Given the description of an element on the screen output the (x, y) to click on. 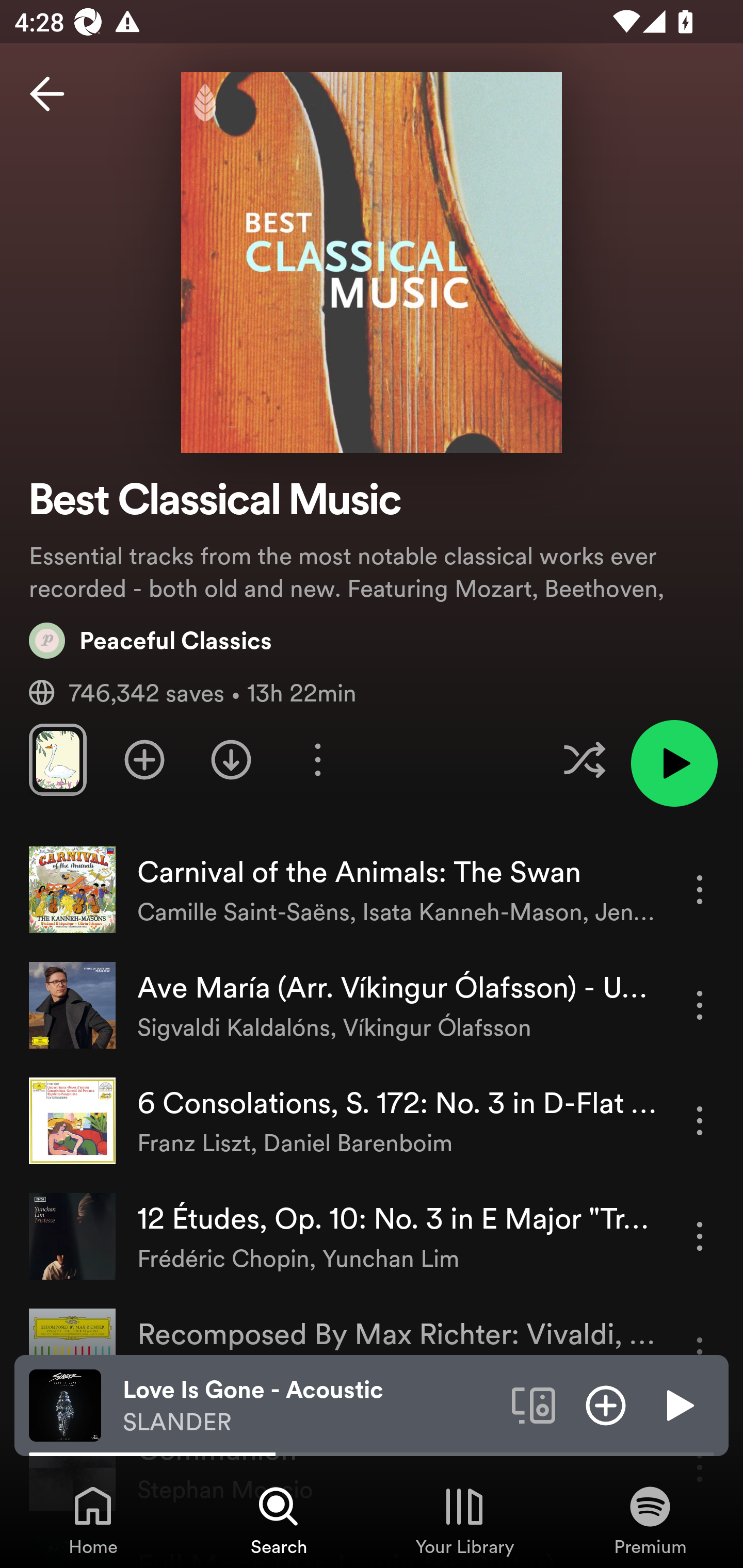
Back (46, 93)
Peaceful Classics (149, 640)
Swipe through previews of tracks in this playlist. (57, 759)
Add playlist to Your Library (144, 759)
Download (230, 759)
More options for playlist Best Classical Music (317, 759)
Enable shuffle for this playlist (583, 759)
Play playlist (674, 763)
Love Is Gone - Acoustic SLANDER (309, 1405)
The cover art of the currently playing track (64, 1404)
Connect to a device. Opens the devices menu (533, 1404)
Add item (605, 1404)
Play (677, 1404)
Home, Tab 1 of 4 Home Home (92, 1519)
Search, Tab 2 of 4 Search Search (278, 1519)
Your Library, Tab 3 of 4 Your Library Your Library (464, 1519)
Premium, Tab 4 of 4 Premium Premium (650, 1519)
